Given the description of an element on the screen output the (x, y) to click on. 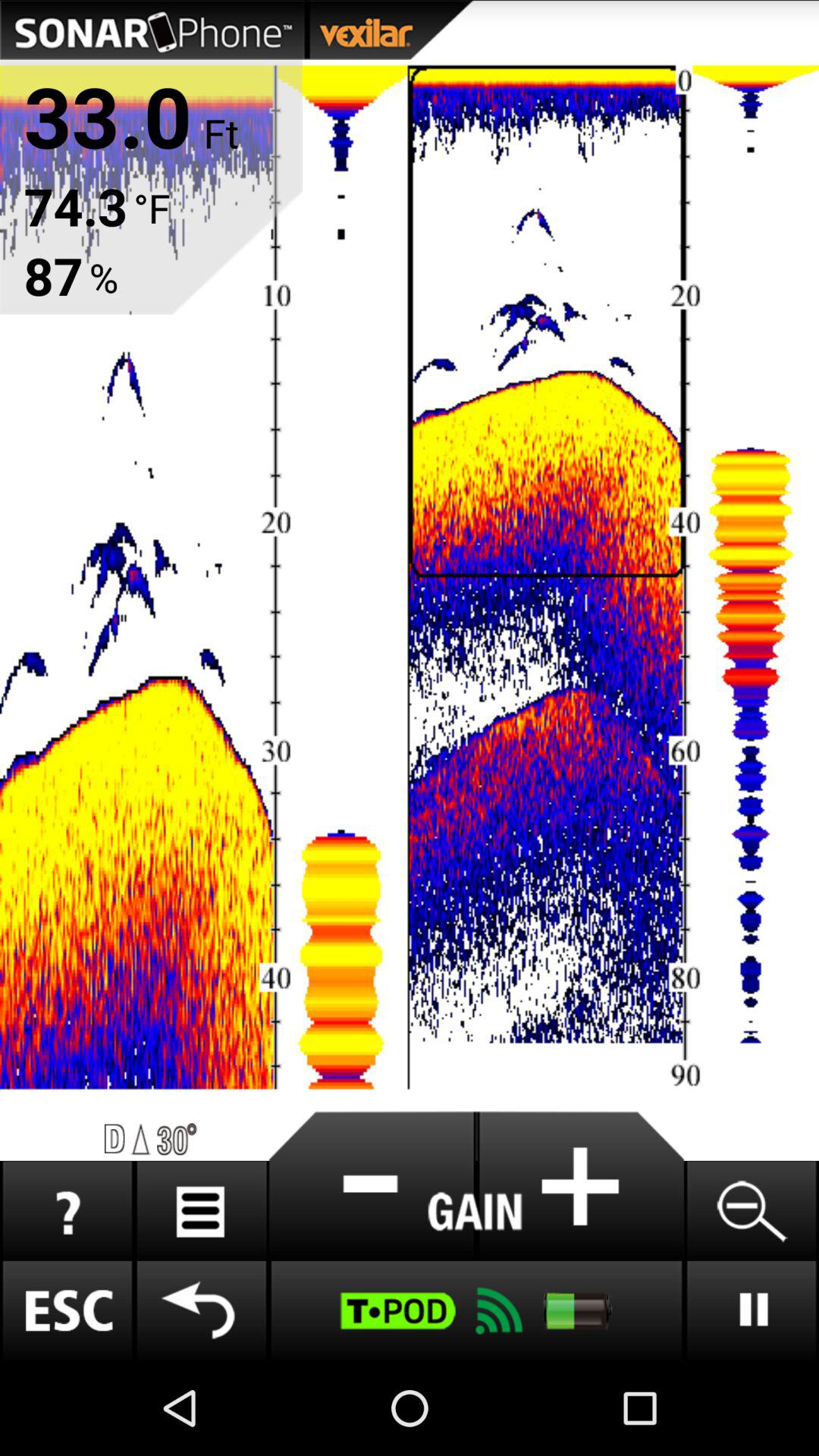
go back (201, 1310)
